Given the description of an element on the screen output the (x, y) to click on. 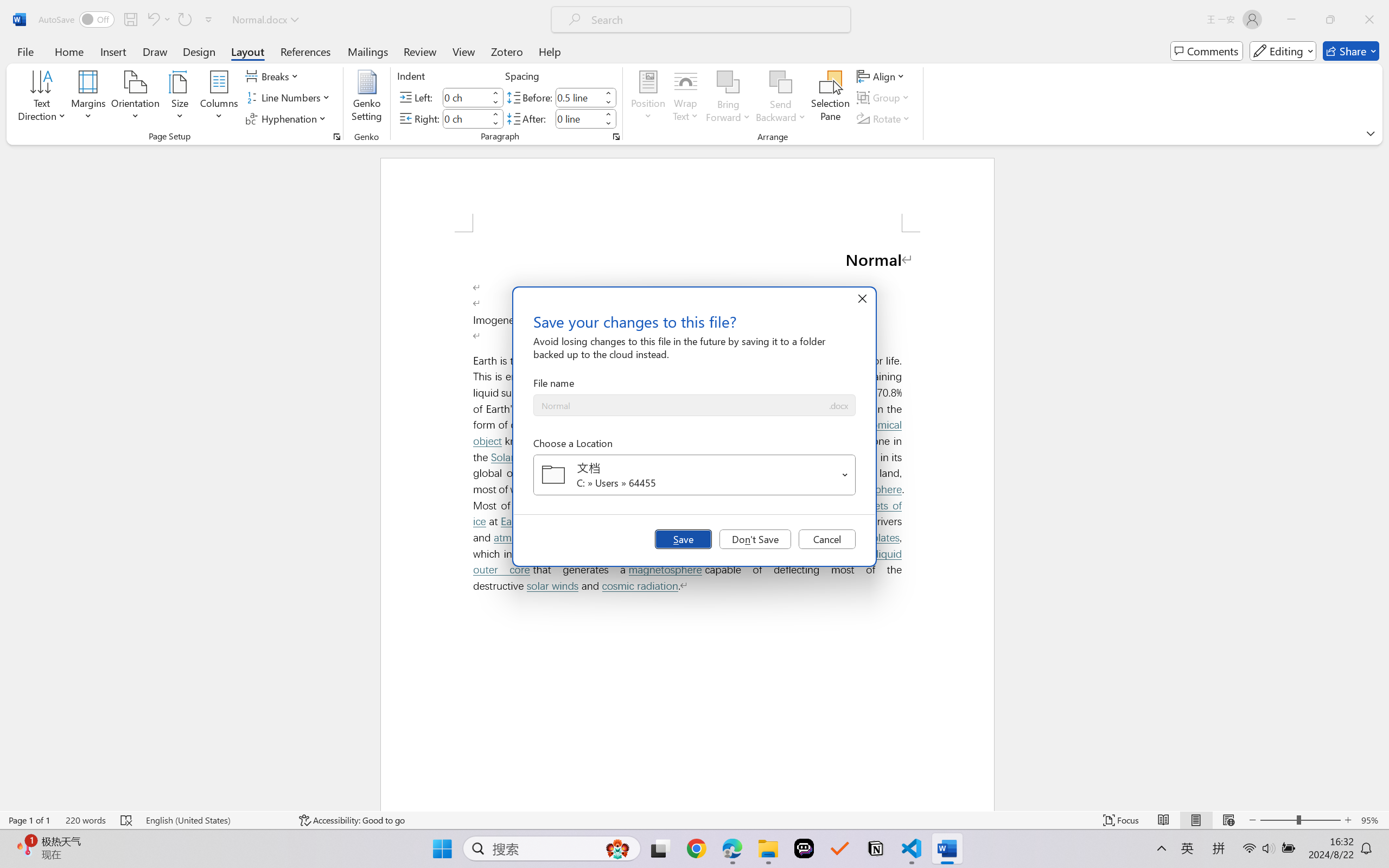
Open (844, 474)
Zoom 95% (1372, 819)
Paragraph... (615, 136)
Align (881, 75)
Wrap Text (685, 97)
Size (180, 97)
